Given the description of an element on the screen output the (x, y) to click on. 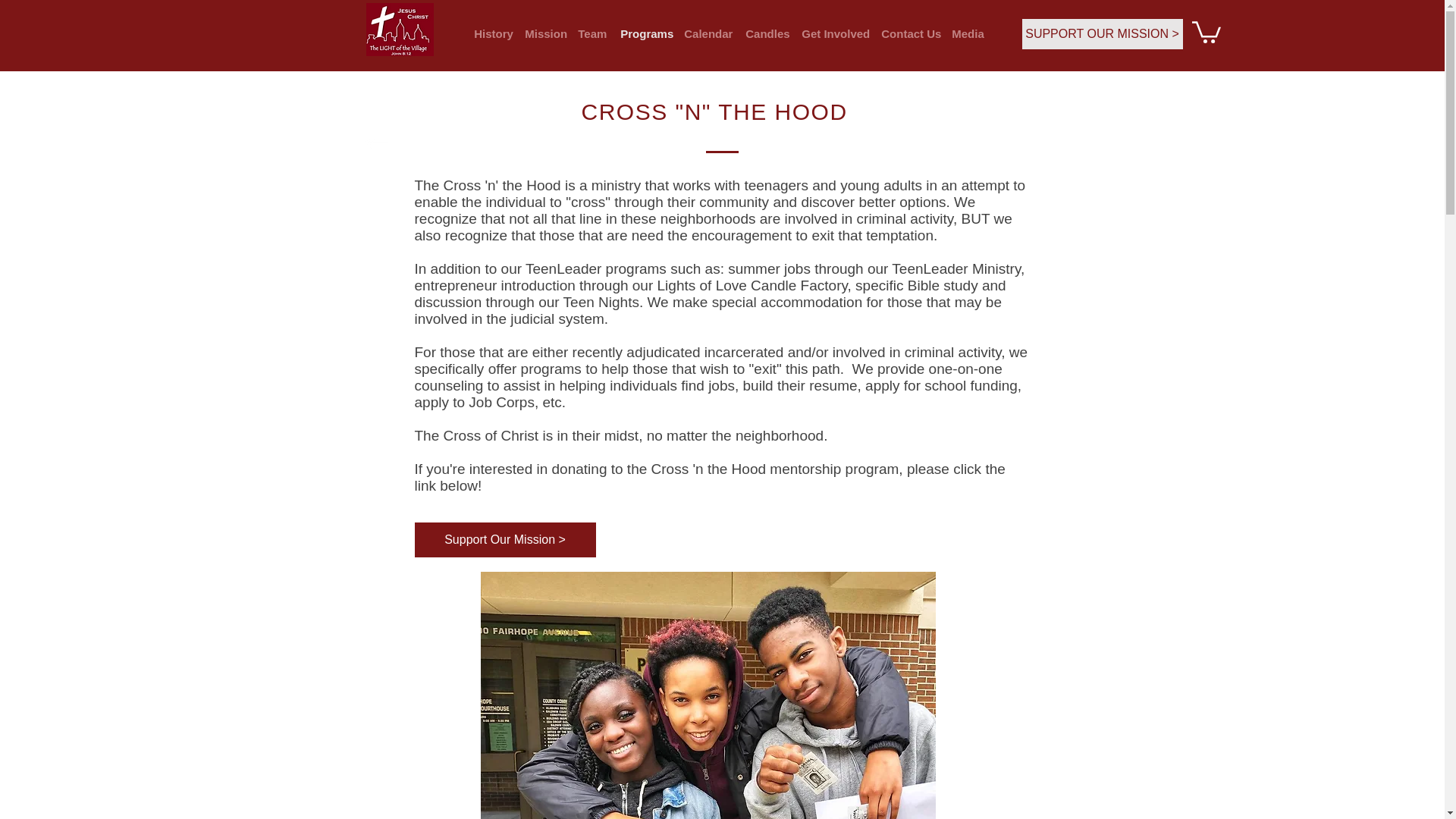
Programs (644, 34)
Contact Us (908, 34)
Get Involved (833, 34)
Media (967, 34)
Mission (543, 34)
History (490, 34)
Calendar (707, 34)
Candles (765, 34)
Team (591, 34)
